Given the description of an element on the screen output the (x, y) to click on. 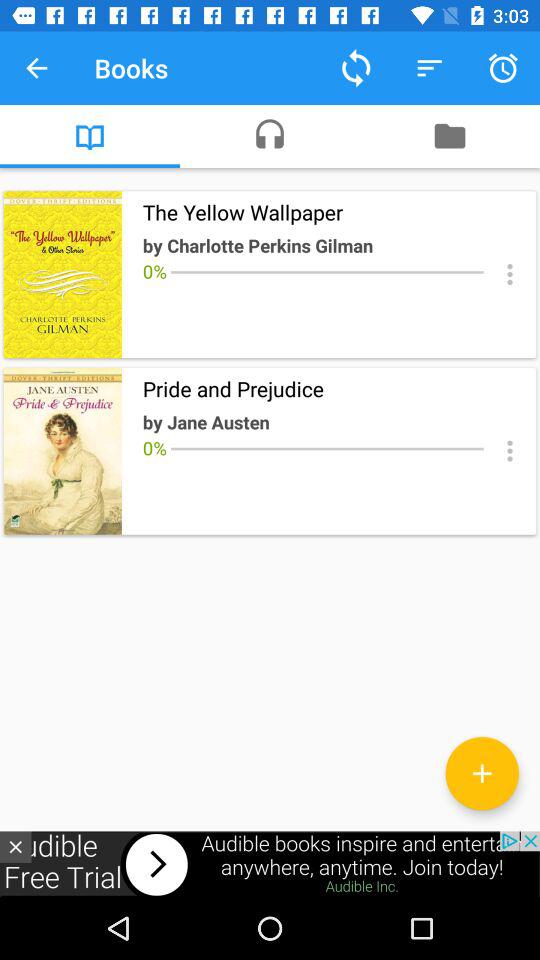
option function (509, 274)
